Given the description of an element on the screen output the (x, y) to click on. 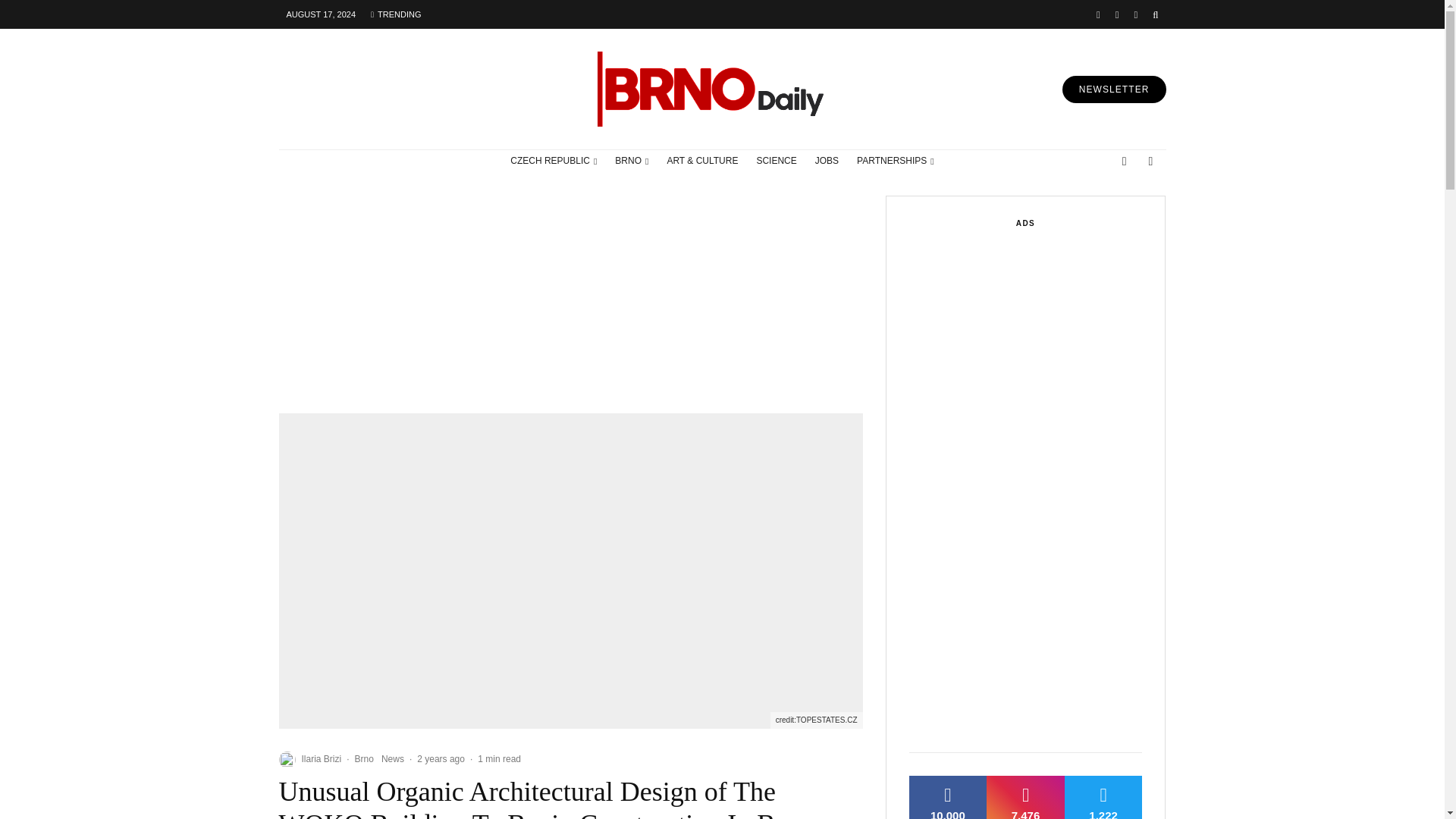
NEWSLETTER (1114, 89)
TRENDING (395, 14)
CZECH REPUBLIC (552, 160)
BRNO (631, 160)
